Given the description of an element on the screen output the (x, y) to click on. 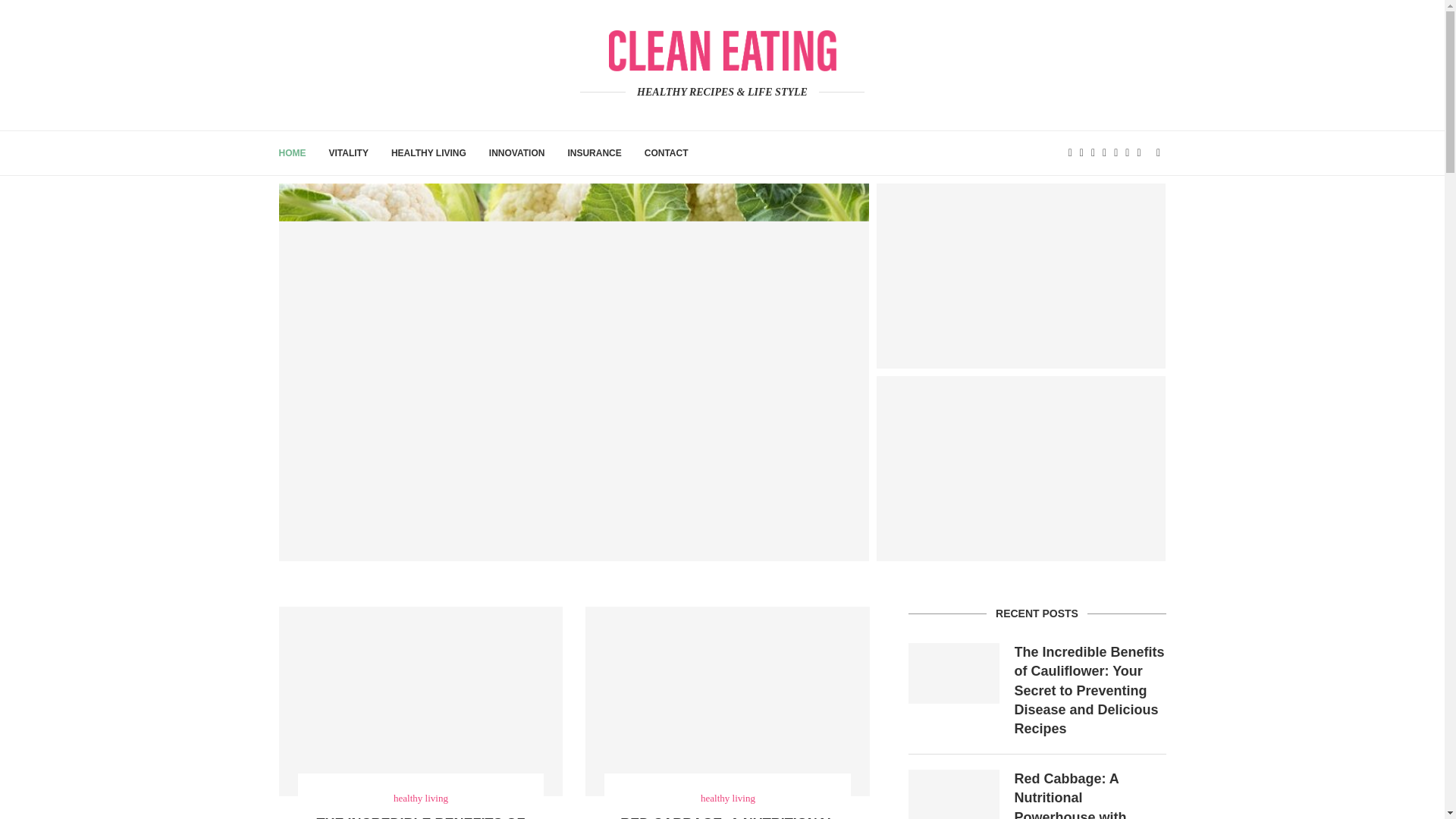
VITALITY (348, 153)
INNOVATION (516, 153)
HEALTHY LIVING (428, 153)
INSURANCE (594, 153)
CONTACT (666, 153)
